Given the description of an element on the screen output the (x, y) to click on. 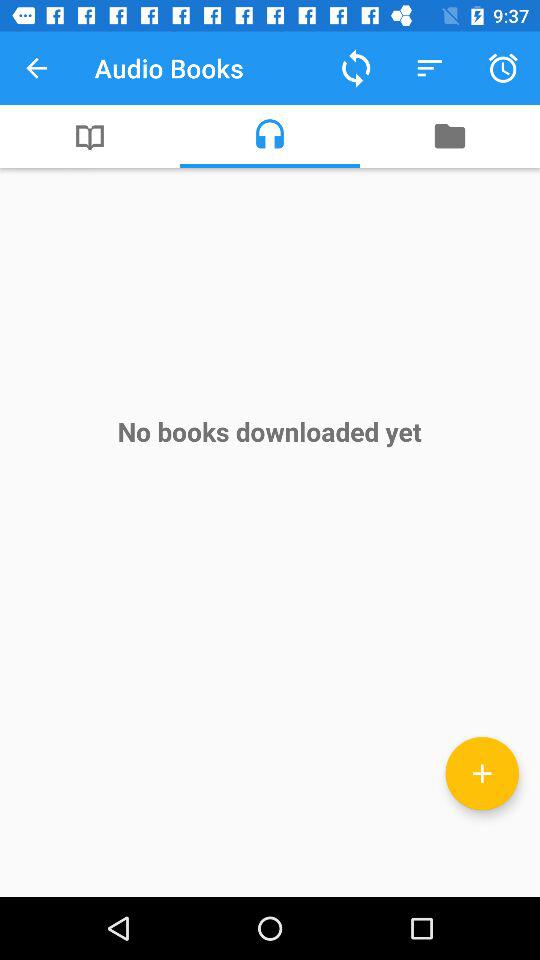
add book (482, 773)
